Given the description of an element on the screen output the (x, y) to click on. 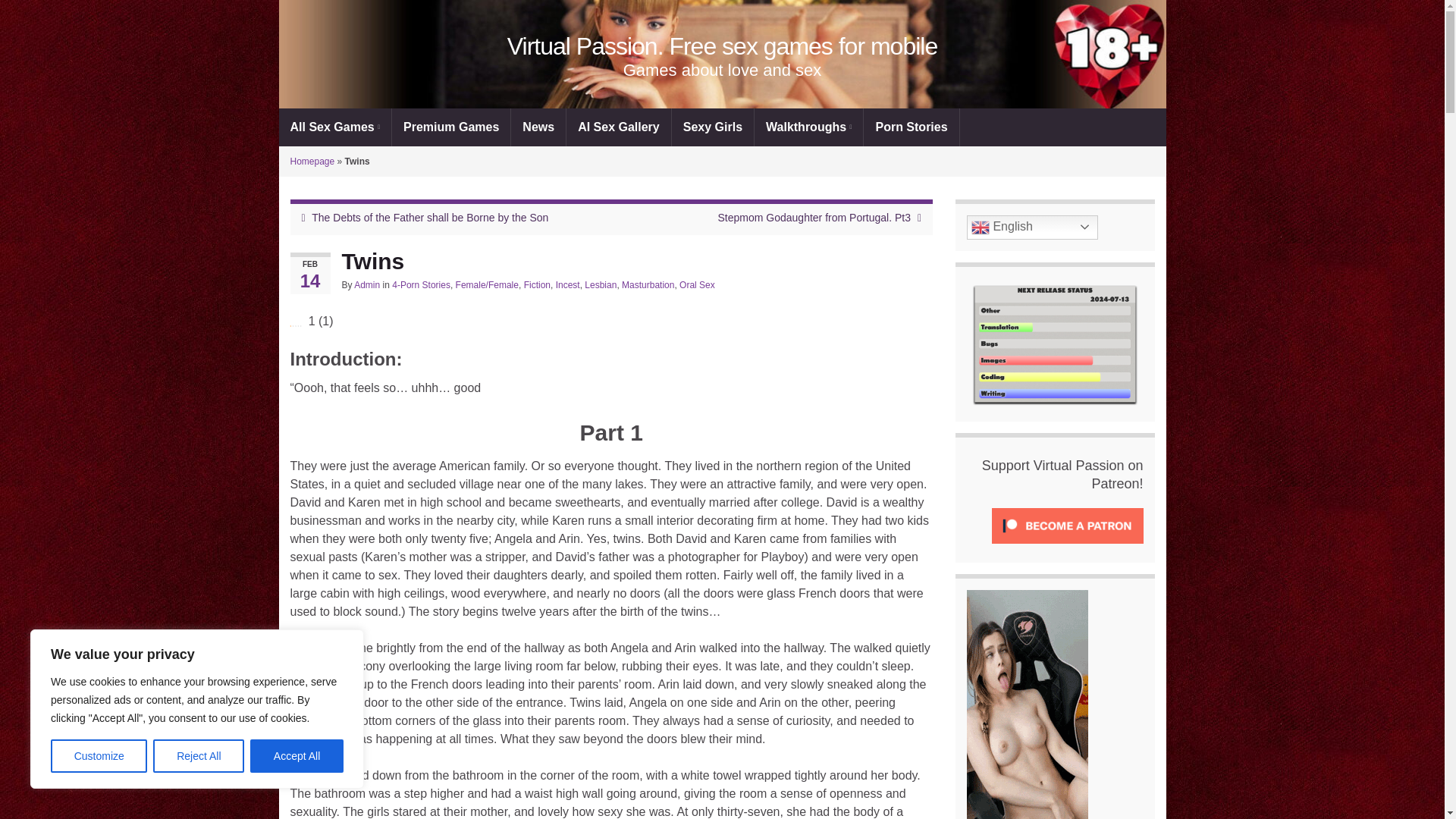
Porn Stories (910, 127)
Incest (567, 285)
Stepmom Godaughter from Portugal. Pt3 (814, 217)
All Sex Games (335, 127)
Go back to the front page (721, 45)
Premium Games (451, 127)
Oral Sex (696, 285)
Reject All (198, 756)
Walkthroughs (808, 127)
Fiction (537, 285)
cropped-Patreon-header118-scaled-1.jpg (722, 54)
Virtual Passion. Free sex games for mobile (721, 45)
Homepage (311, 161)
AI Sex Gallery (618, 127)
4-Porn Stories (420, 285)
